Given the description of an element on the screen output the (x, y) to click on. 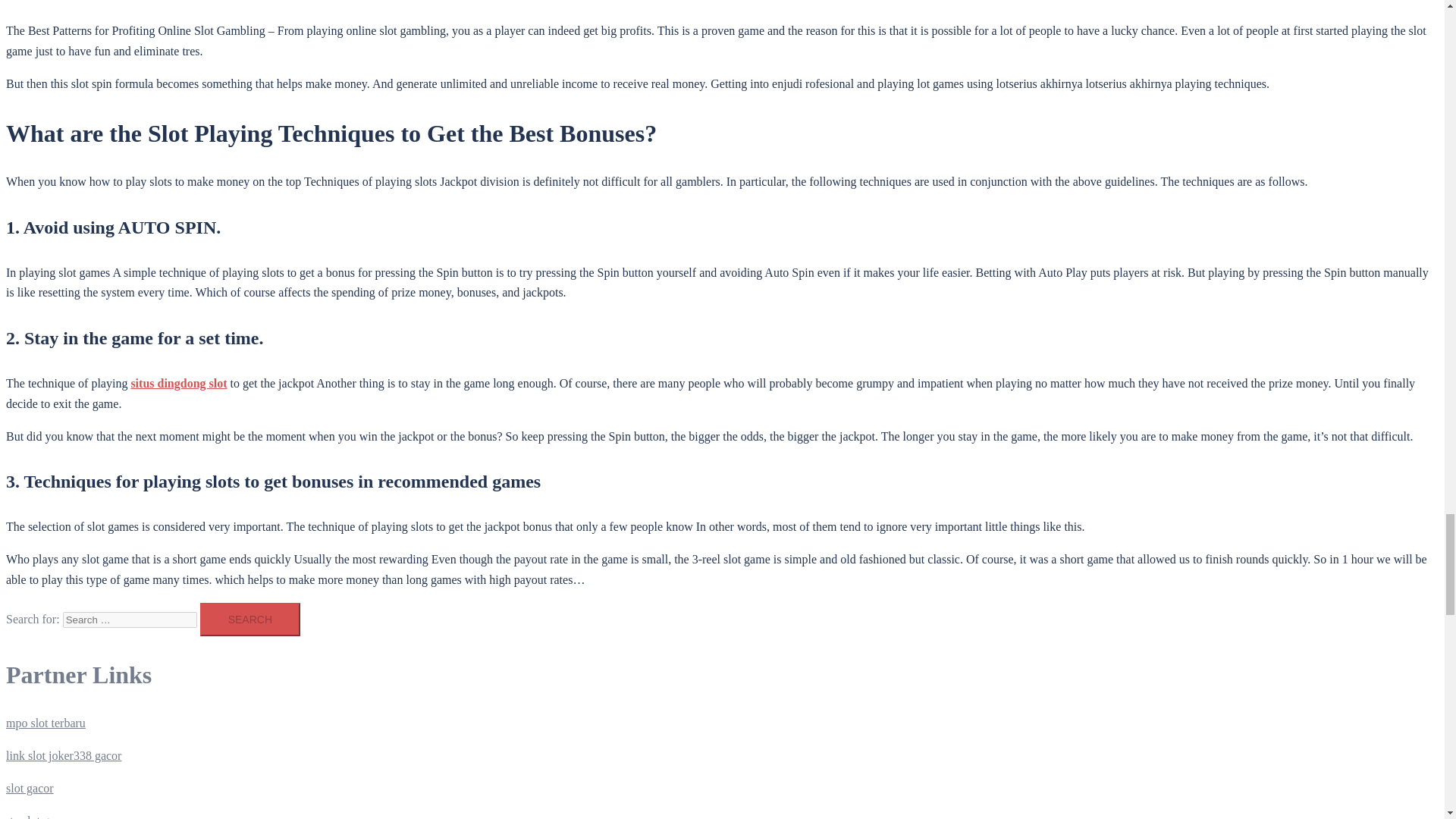
mpo slot terbaru (45, 722)
Search (249, 619)
Search (249, 619)
link slot joker338 gacor (62, 755)
Search (249, 619)
rtp slot gacor (37, 816)
situs dingdong slot (179, 382)
slot gacor (29, 788)
